Given the description of an element on the screen output the (x, y) to click on. 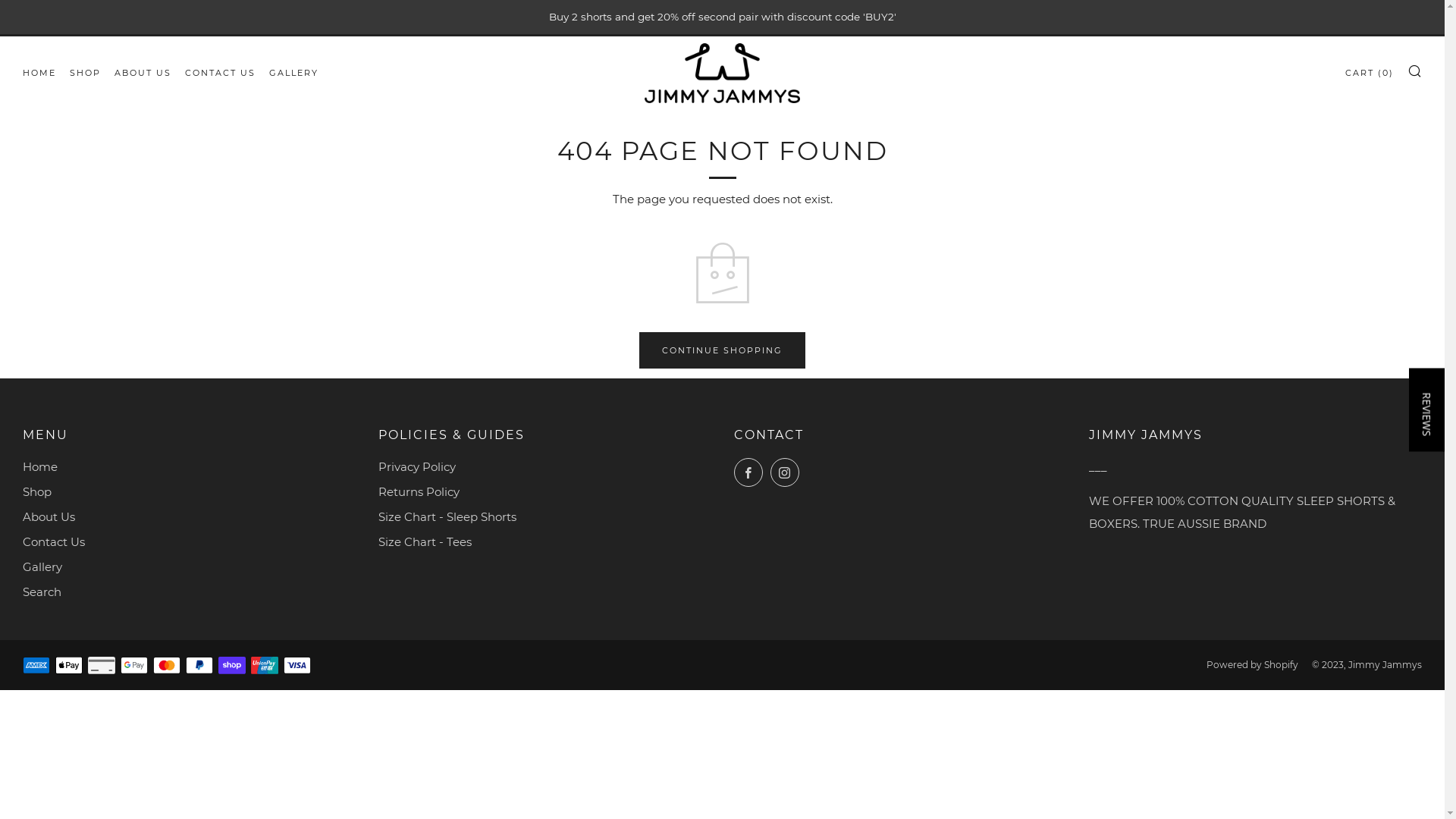
Powered by Shopify Element type: text (1252, 664)
CONTACT US Element type: text (220, 72)
HOME Element type: text (39, 72)
Gallery Element type: text (42, 566)
SEARCH Element type: text (1414, 70)
Search Element type: text (41, 591)
CART (0) Element type: text (1369, 72)
Size Chart - Sleep Shorts Element type: text (447, 516)
Facebook Element type: text (748, 472)
Instagram Element type: text (784, 472)
About Us Element type: text (48, 516)
Home Element type: text (39, 466)
Size Chart - Tees Element type: text (424, 541)
Returns Policy Element type: text (418, 491)
ABOUT US Element type: text (142, 72)
GALLERY Element type: text (293, 72)
Shop Element type: text (36, 491)
Contact Us Element type: text (53, 541)
SHOP Element type: text (84, 72)
CONTINUE SHOPPING Element type: text (722, 350)
Privacy Policy Element type: text (416, 466)
